Given the description of an element on the screen output the (x, y) to click on. 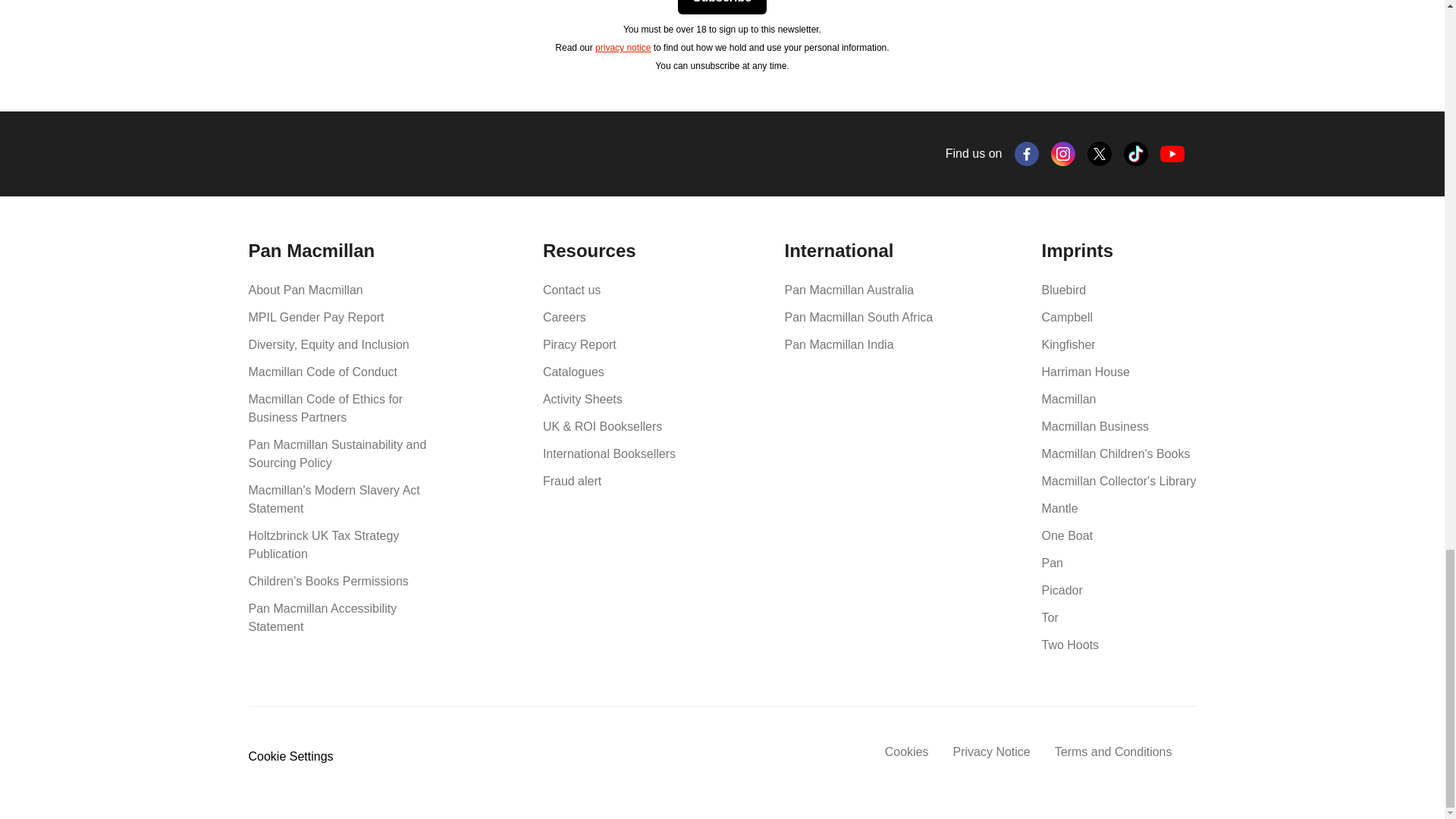
Subscribe (722, 7)
Pan Macmillan Privacy Notice (622, 47)
Facebook (1026, 153)
